Given the description of an element on the screen output the (x, y) to click on. 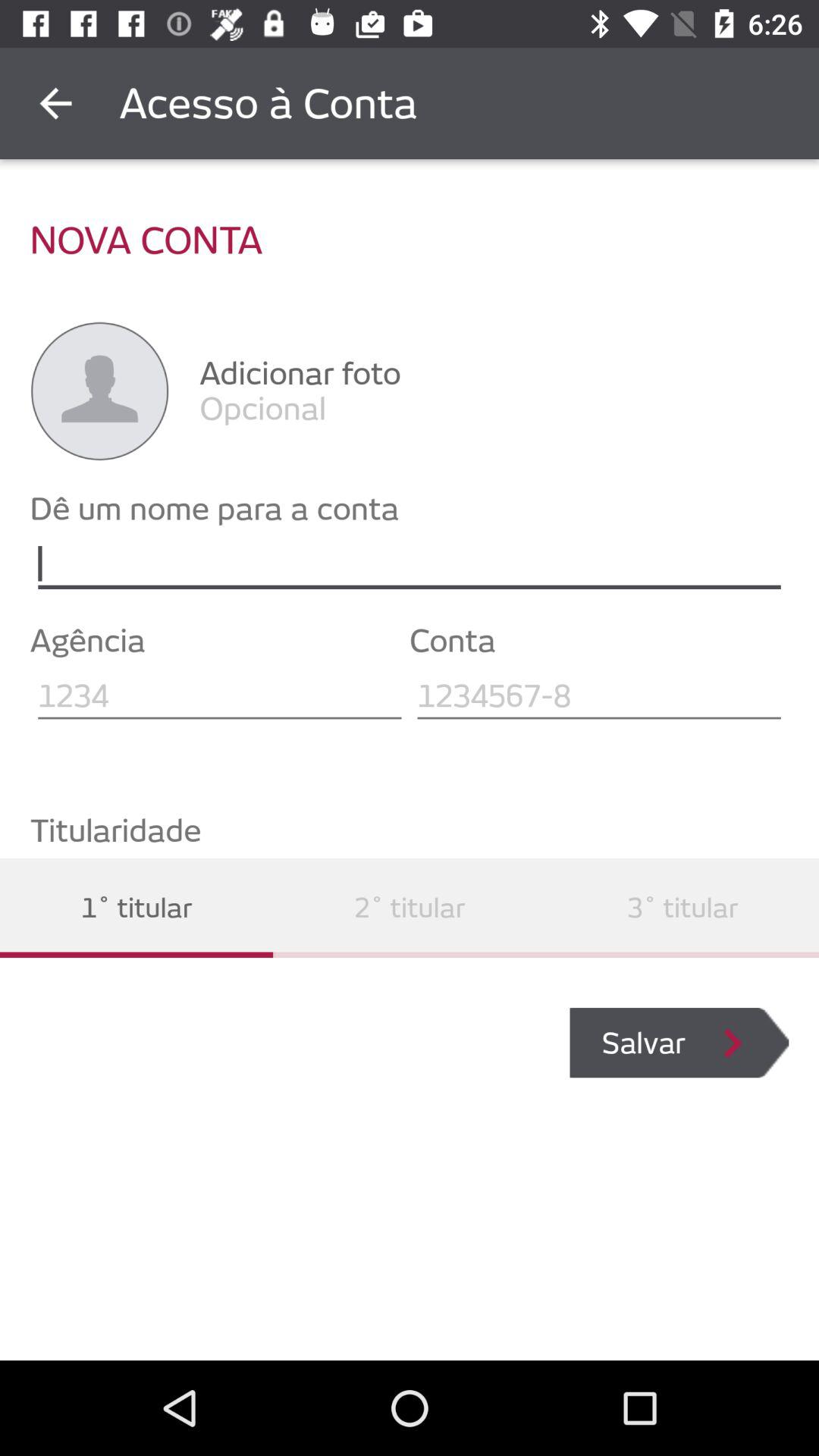
select the item above the nova conta (55, 103)
